Given the description of an element on the screen output the (x, y) to click on. 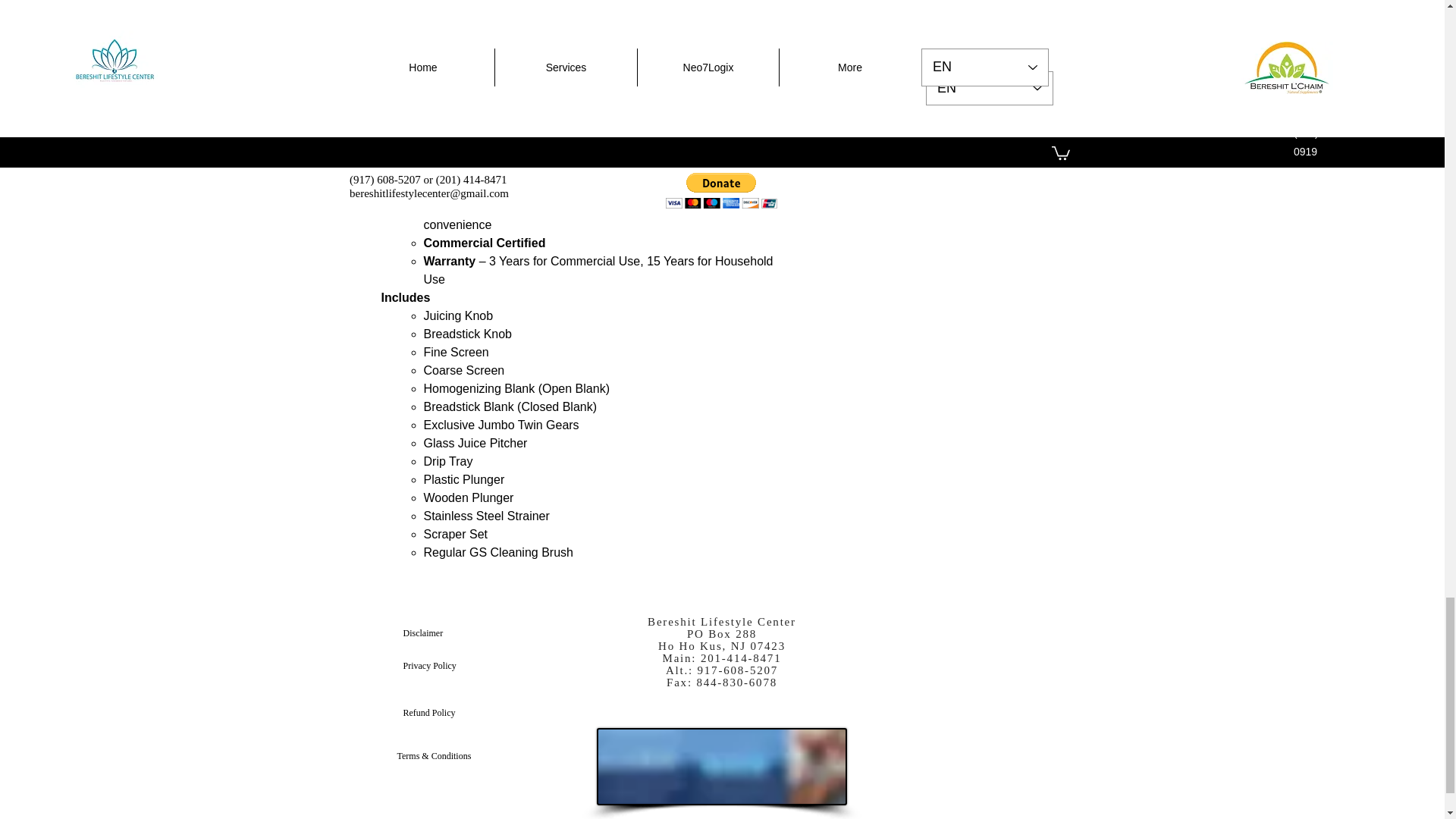
Privacy Policy (457, 665)
Refund Policy (457, 712)
Disclaimer (457, 633)
